Given the description of an element on the screen output the (x, y) to click on. 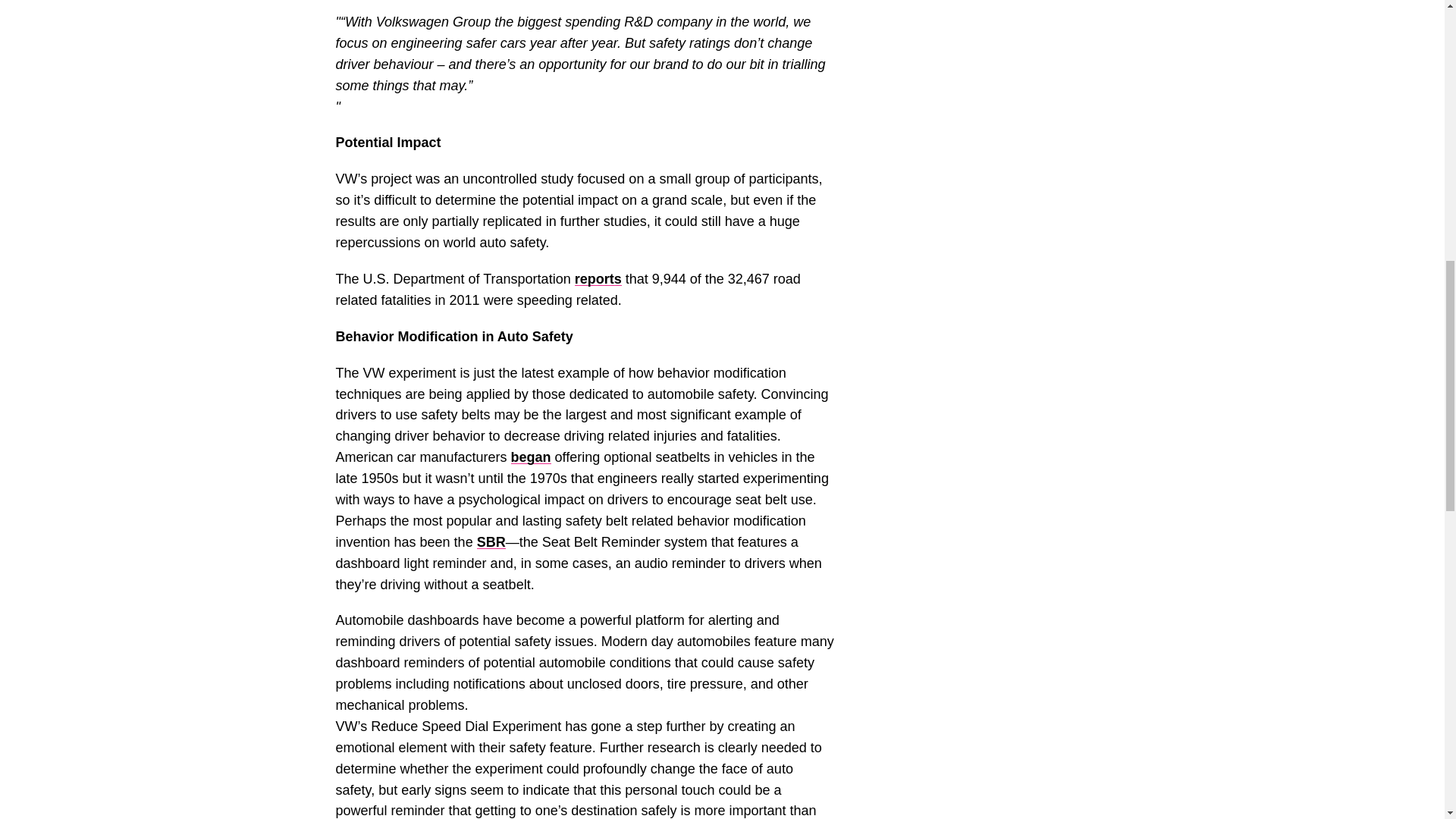
reports (598, 278)
SBR (491, 541)
began (531, 457)
